Given the description of an element on the screen output the (x, y) to click on. 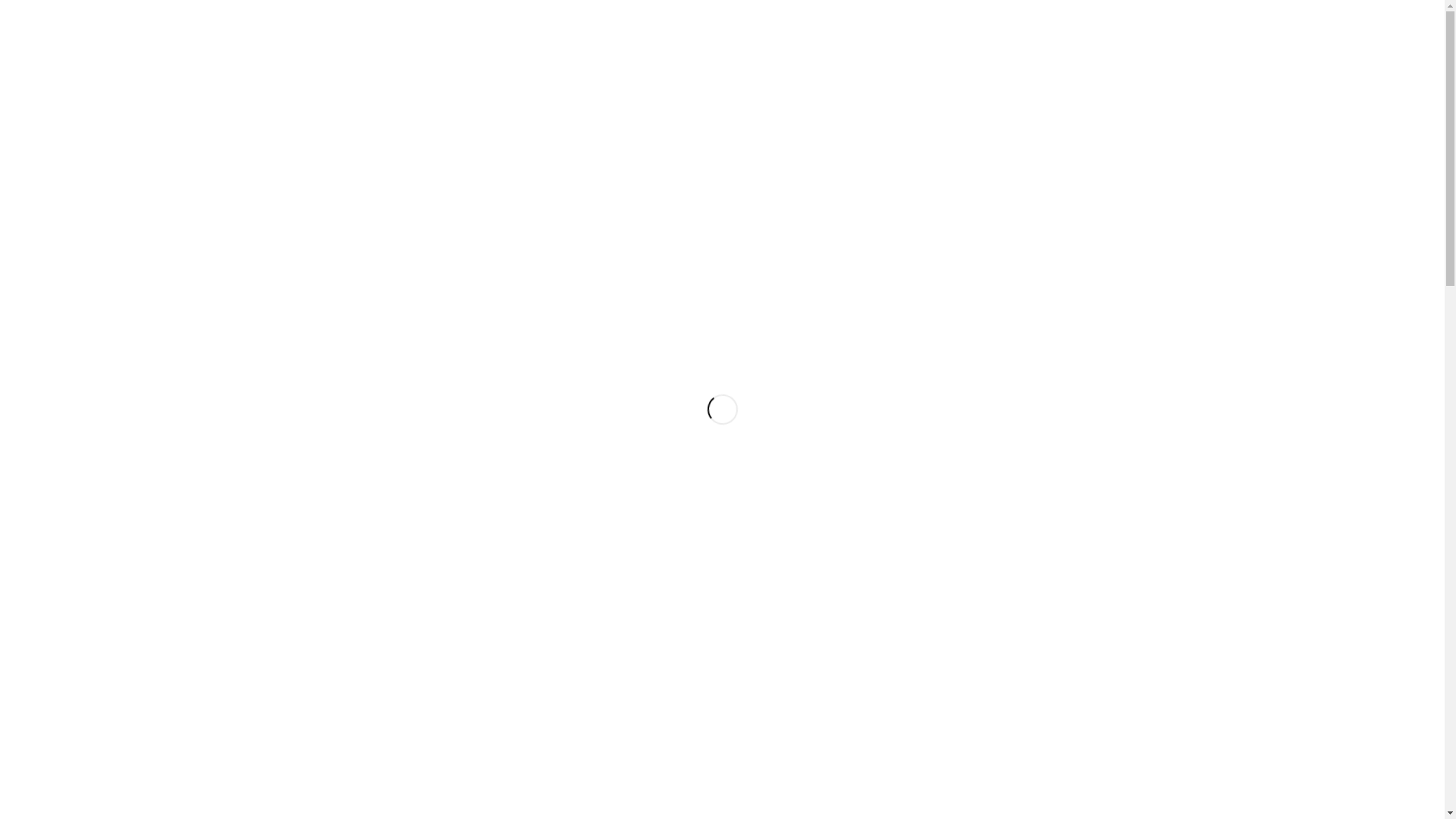
LinkedIn Element type: hover (1404, 11)
New Floor Plans Element type: text (1150, 52)
Contact Element type: text (1232, 52)
1(800) 565-9158 Element type: text (1324, 52)
